Given the description of an element on the screen output the (x, y) to click on. 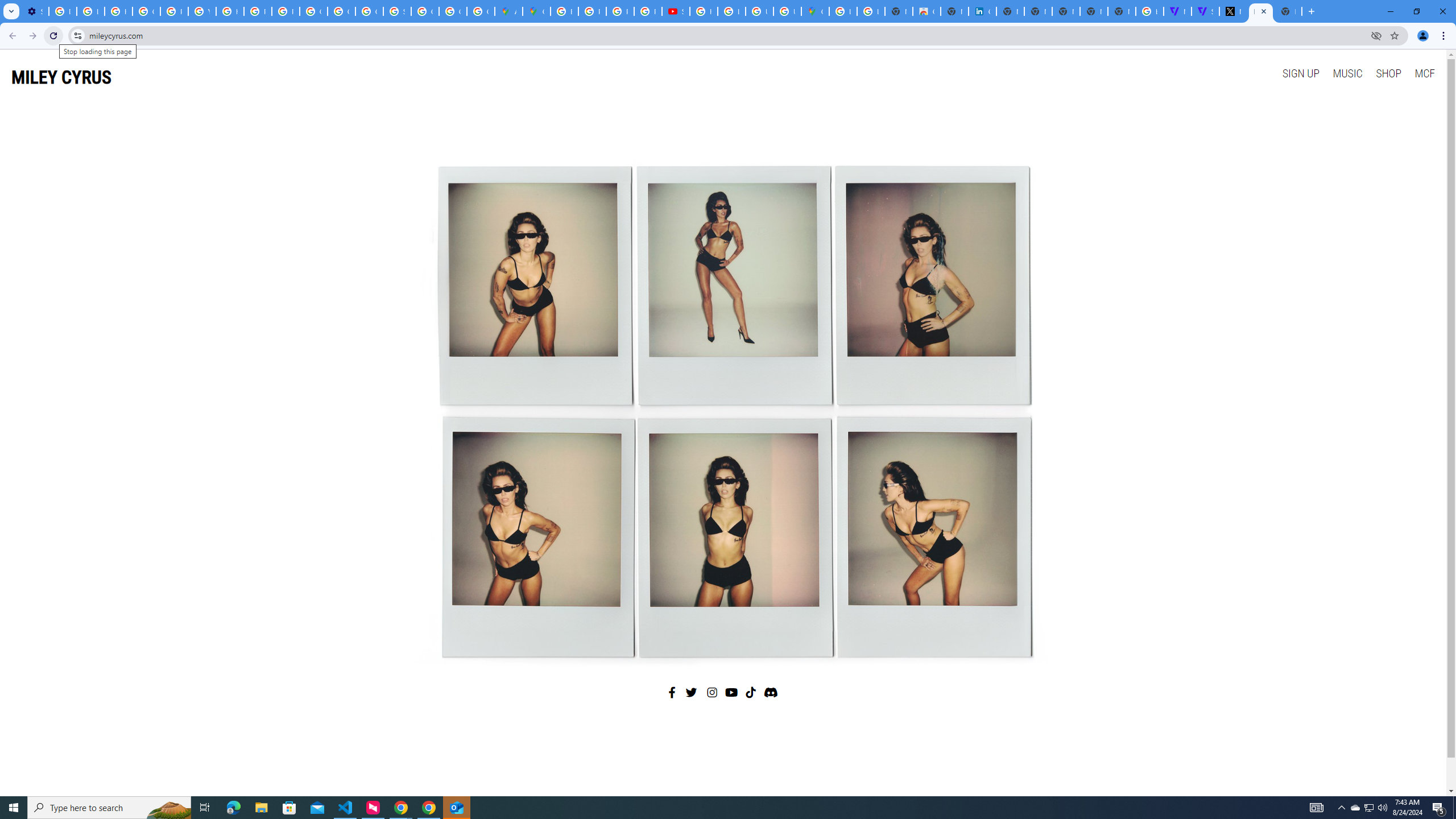
New Tab (1121, 11)
Privacy Help Center - Policies Help (620, 11)
Settings - Customize profile (34, 11)
MUSIC (1347, 73)
Streaming - The Verge (1205, 11)
YouTube (202, 11)
Delete photos & videos - Computer - Google Photos Help (62, 11)
